Given the description of an element on the screen output the (x, y) to click on. 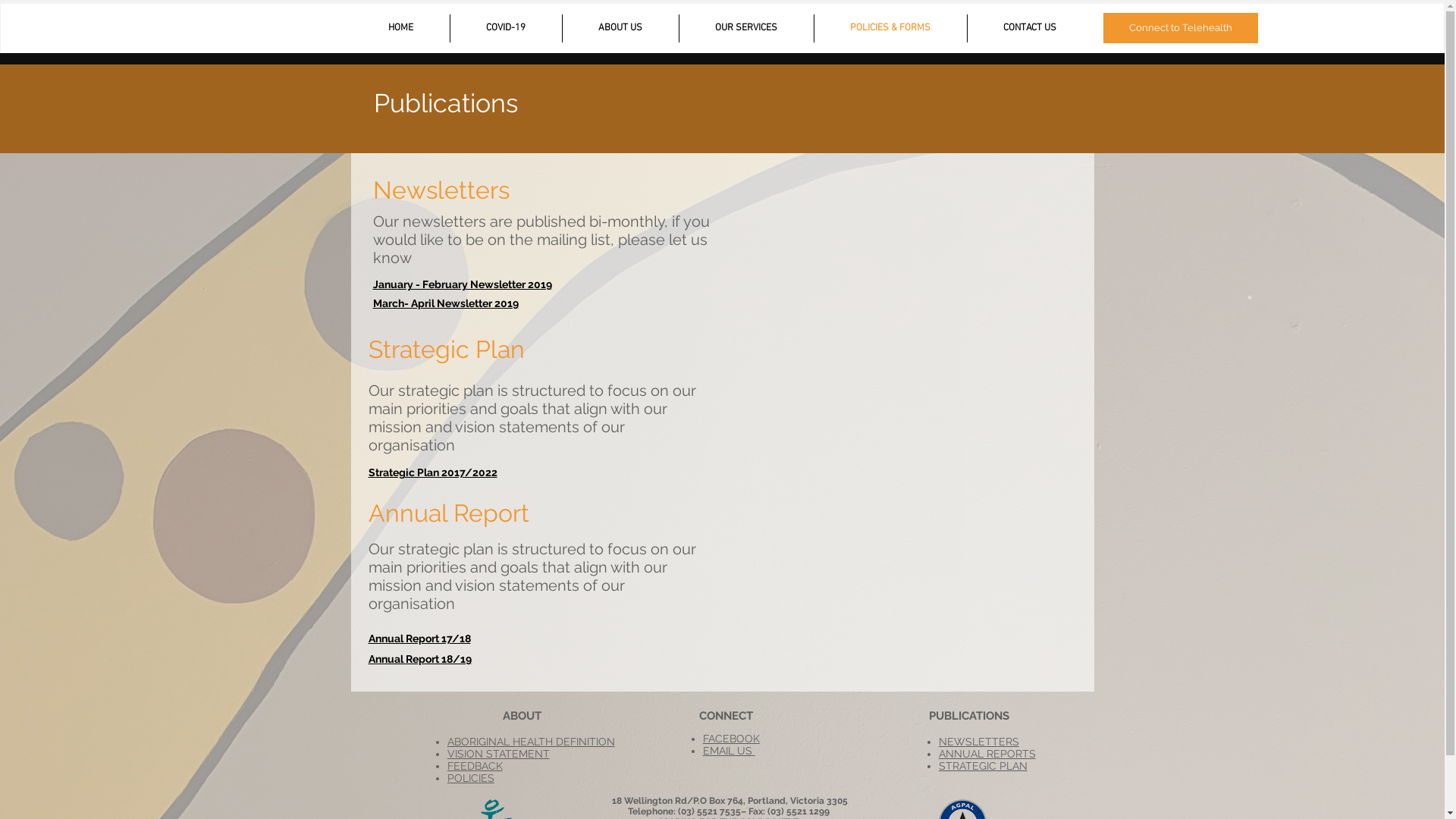
January - February Newsletter 2019 Element type: text (462, 284)
ABOUT US Element type: text (620, 28)
ANNUAL REPORTS Element type: text (986, 753)
HOME Element type: text (400, 28)
FACEBOOK Element type: text (730, 738)
EMAIL US  Element type: text (728, 750)
Strategic Plan 2017/2022 Element type: text (432, 472)
Connect to Telehealth Element type: text (1179, 27)
OUR SERVICES Element type: text (746, 28)
CONTACT US Element type: text (1029, 28)
COVID-19 Element type: text (505, 28)
STRATEGIC PLAN Element type: text (982, 765)
March- April Newsletter 2019 Element type: text (445, 303)
FEEDBACK Element type: text (474, 765)
POLICIES & FORMS Element type: text (890, 28)
NEWSLETTERS Element type: text (978, 741)
ABORIGINAL HEALTH DEFINITION Element type: text (531, 741)
Annual Report 17/18 Element type: text (419, 638)
VISION STATEMENT Element type: text (498, 753)
Annual Report 18/19 Element type: text (419, 658)
POLICIES Element type: text (470, 777)
